Given the description of an element on the screen output the (x, y) to click on. 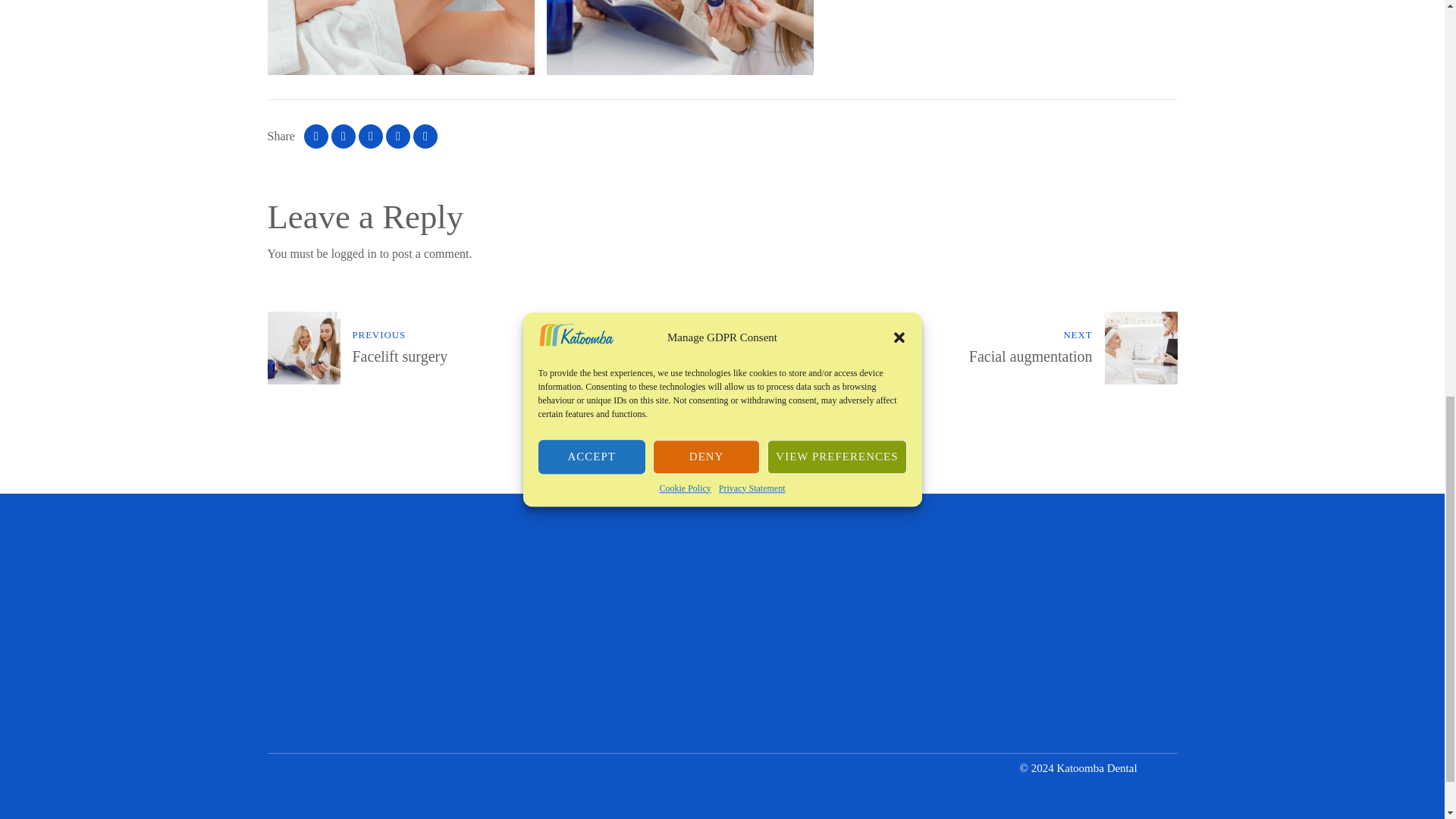
Share on Email (425, 136)
Share on Facebook (316, 136)
Share on WhatsApp (397, 136)
Share on LinkedIn (370, 136)
Share on Twitter (343, 136)
